Given the description of an element on the screen output the (x, y) to click on. 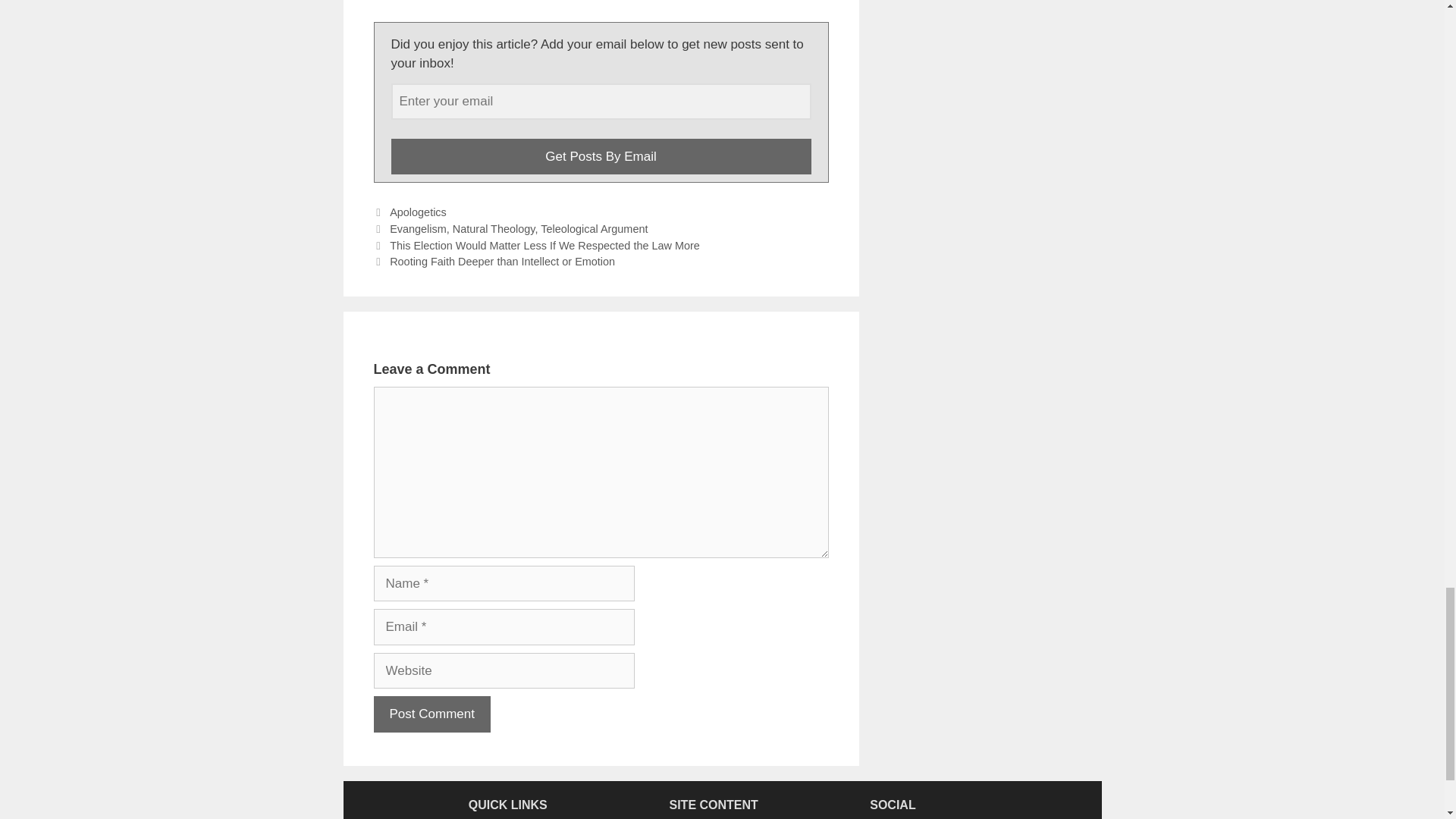
Apologetics (418, 212)
Evangelism (418, 228)
Rooting Faith Deeper than Intellect or Emotion (502, 261)
Get Posts By Email (600, 156)
This Election Would Matter Less If We Respected the Law More (545, 245)
Post Comment (430, 714)
Post Comment (430, 714)
Teleological Argument (593, 228)
Natural Theology (493, 228)
